Given the description of an element on the screen output the (x, y) to click on. 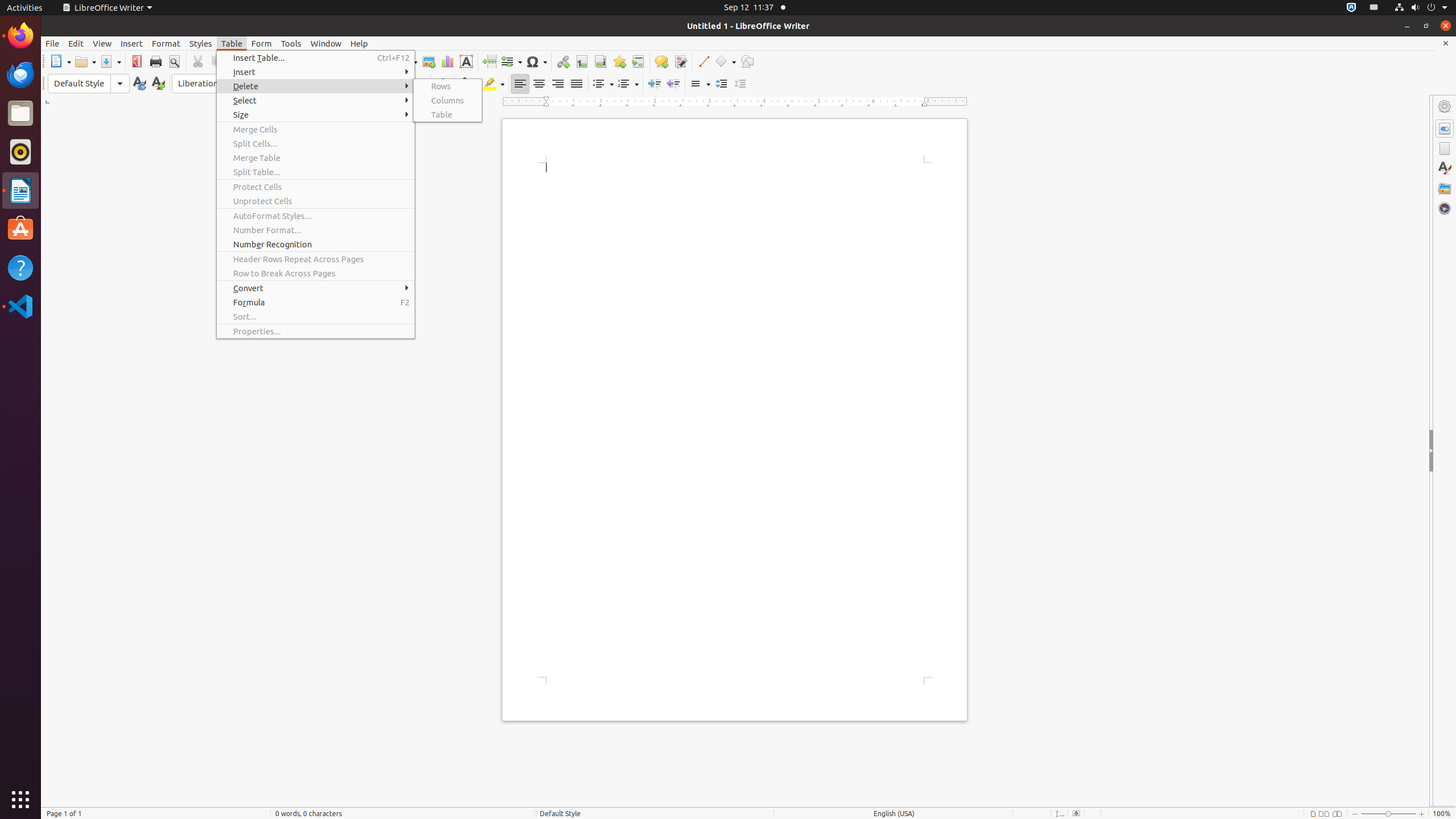
Field Element type: push-button (510, 61)
Help Element type: push-button (20, 267)
Draw Functions Element type: push-button (746, 61)
Increase Element type: push-button (721, 83)
Endnote Element type: push-button (599, 61)
